Given the description of an element on the screen output the (x, y) to click on. 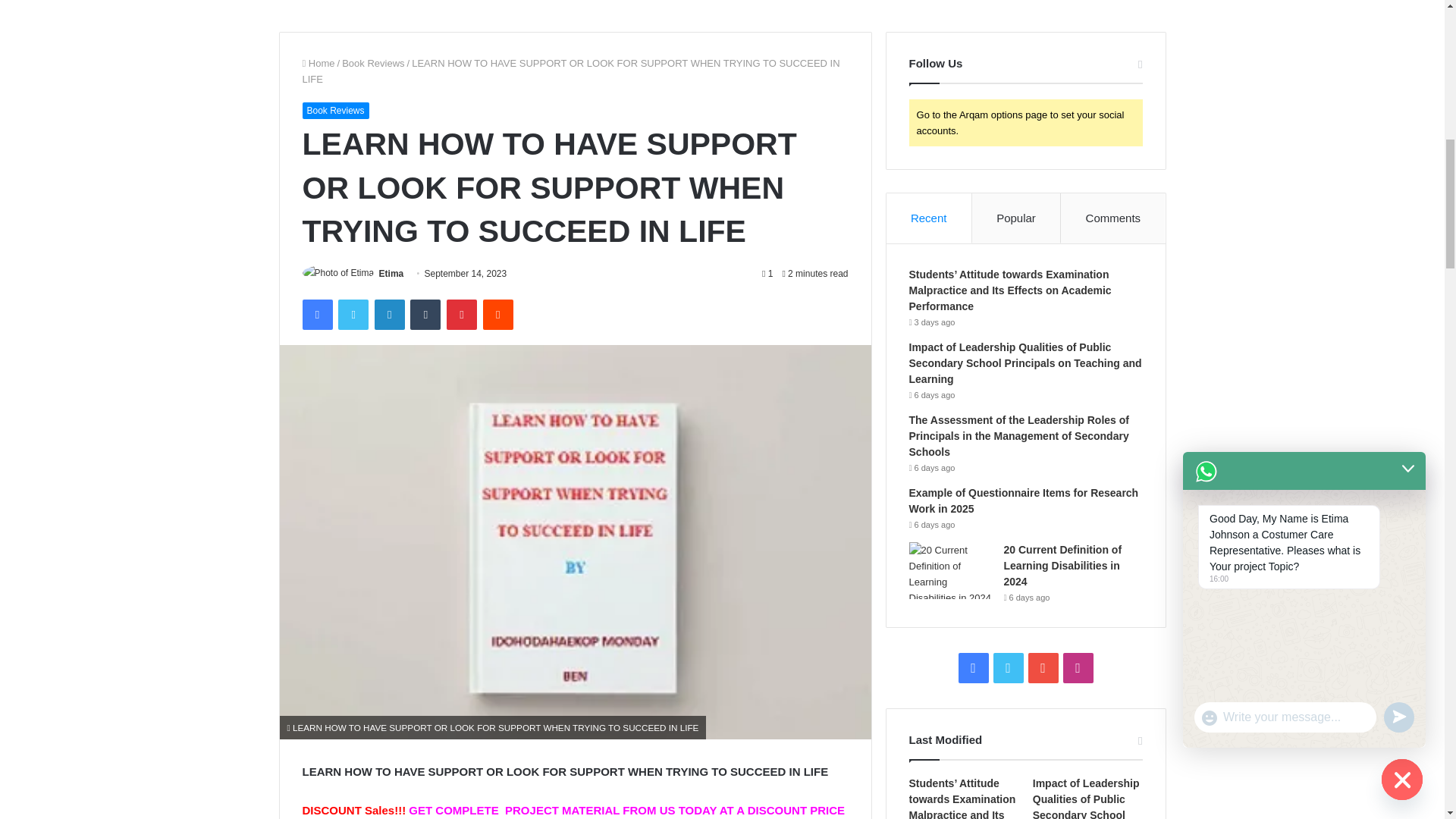
Etima (391, 273)
Twitter (352, 314)
LinkedIn (389, 314)
Pinterest (461, 314)
Book Reviews (334, 110)
Reddit (498, 314)
Twitter (352, 314)
Pinterest (461, 314)
Tumblr (425, 314)
Home (317, 62)
